Given the description of an element on the screen output the (x, y) to click on. 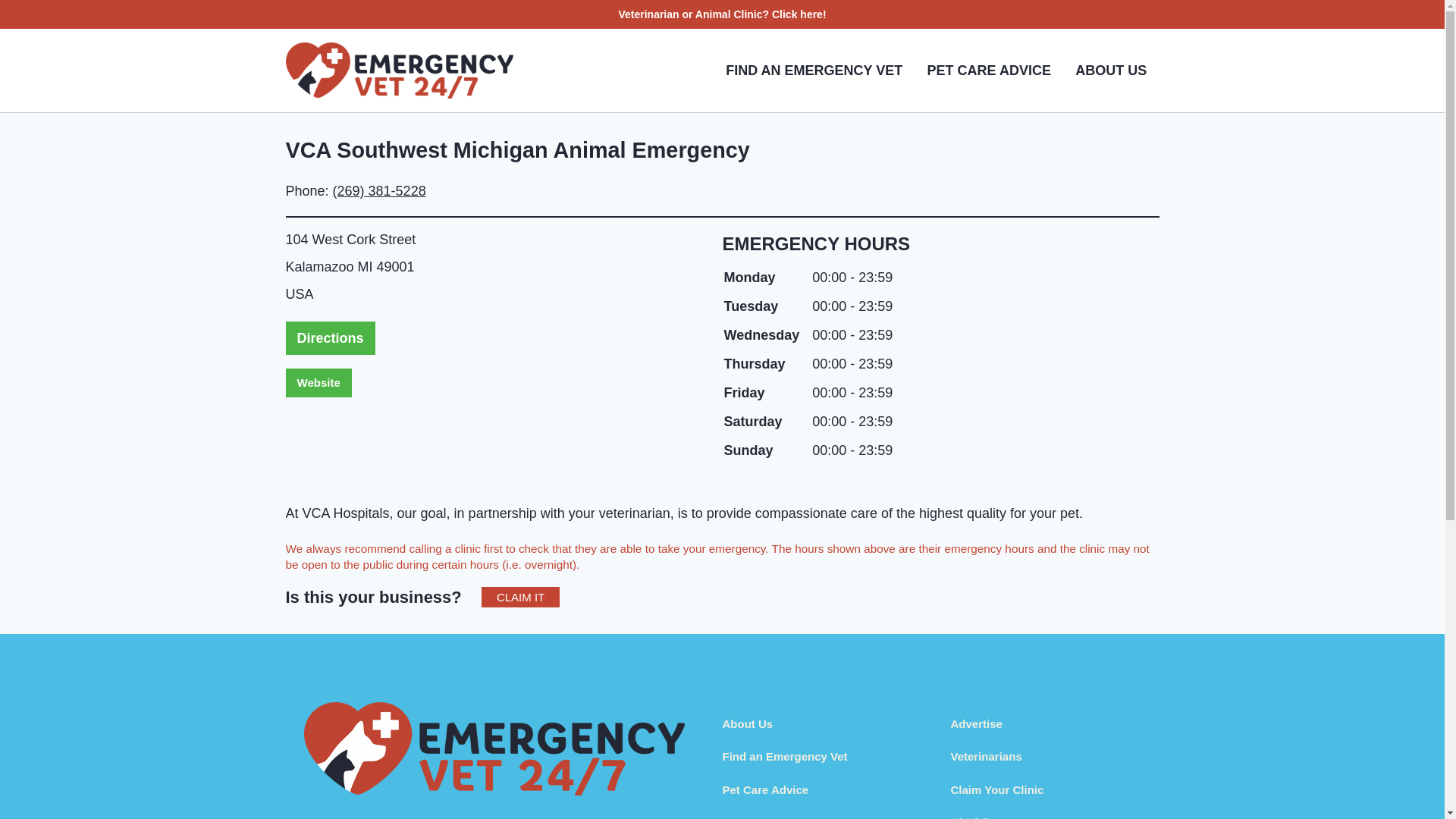
Contact (743, 817)
PET CARE ADVICE (988, 70)
FIND AN EMERGENCY VET (813, 70)
Advertise (976, 723)
About Us (747, 723)
Find an Emergency Vet (784, 756)
Veterinarians (986, 756)
ABOUT US (1110, 70)
CLAIM IT (520, 597)
Disclaimer (979, 817)
